Given the description of an element on the screen output the (x, y) to click on. 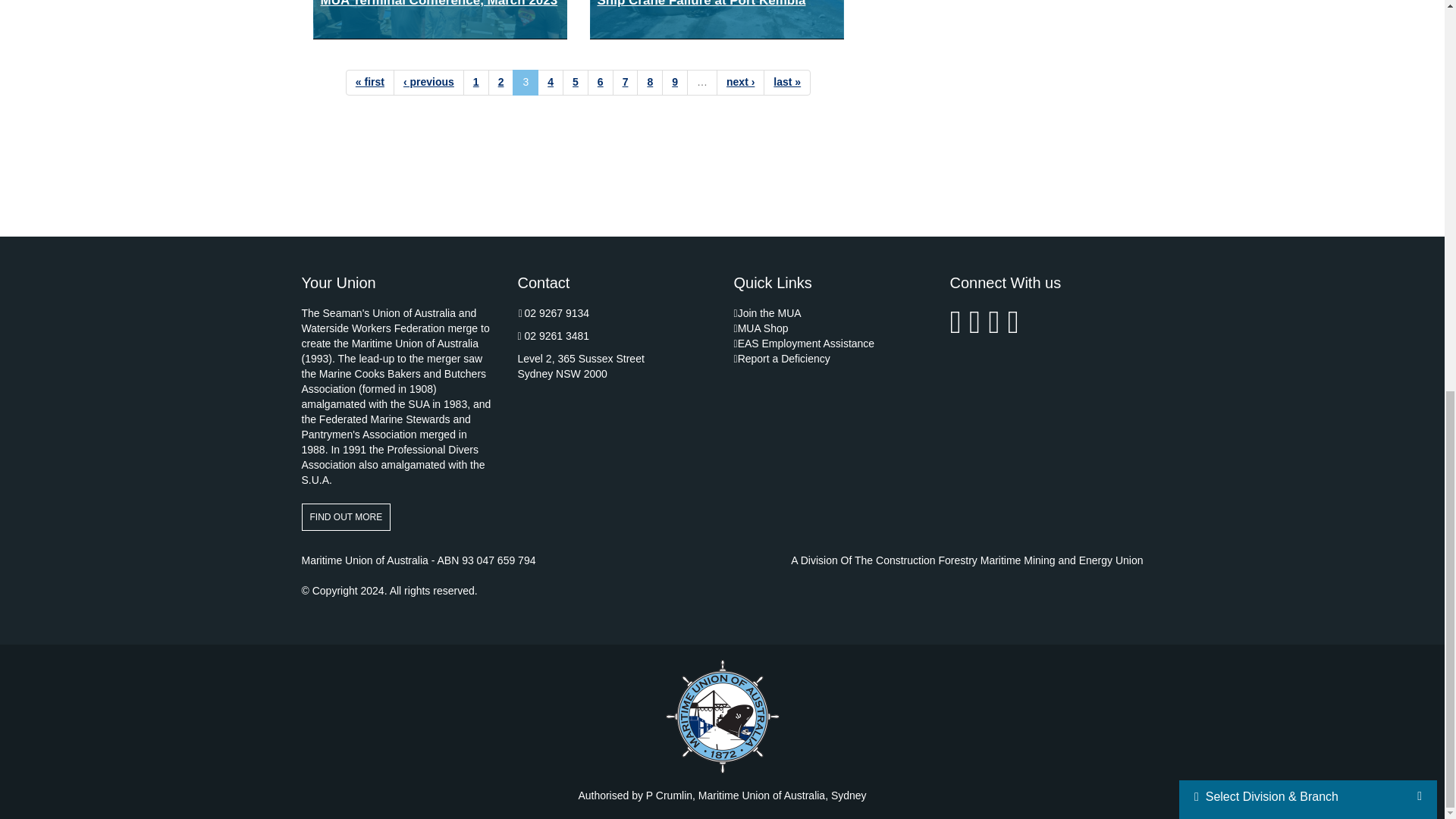
Go to page 5 (575, 82)
Go to last page (786, 82)
Go to page 2 (500, 82)
Go to page 1 (476, 82)
Go to page 4 (550, 82)
Go to previous page (428, 82)
Go to page 7 (625, 82)
Go to page 6 (600, 82)
Home (721, 723)
Go to page 8 (649, 82)
Go to page 9 (674, 82)
Go to first page (370, 82)
Go to next page (740, 82)
